Given the description of an element on the screen output the (x, y) to click on. 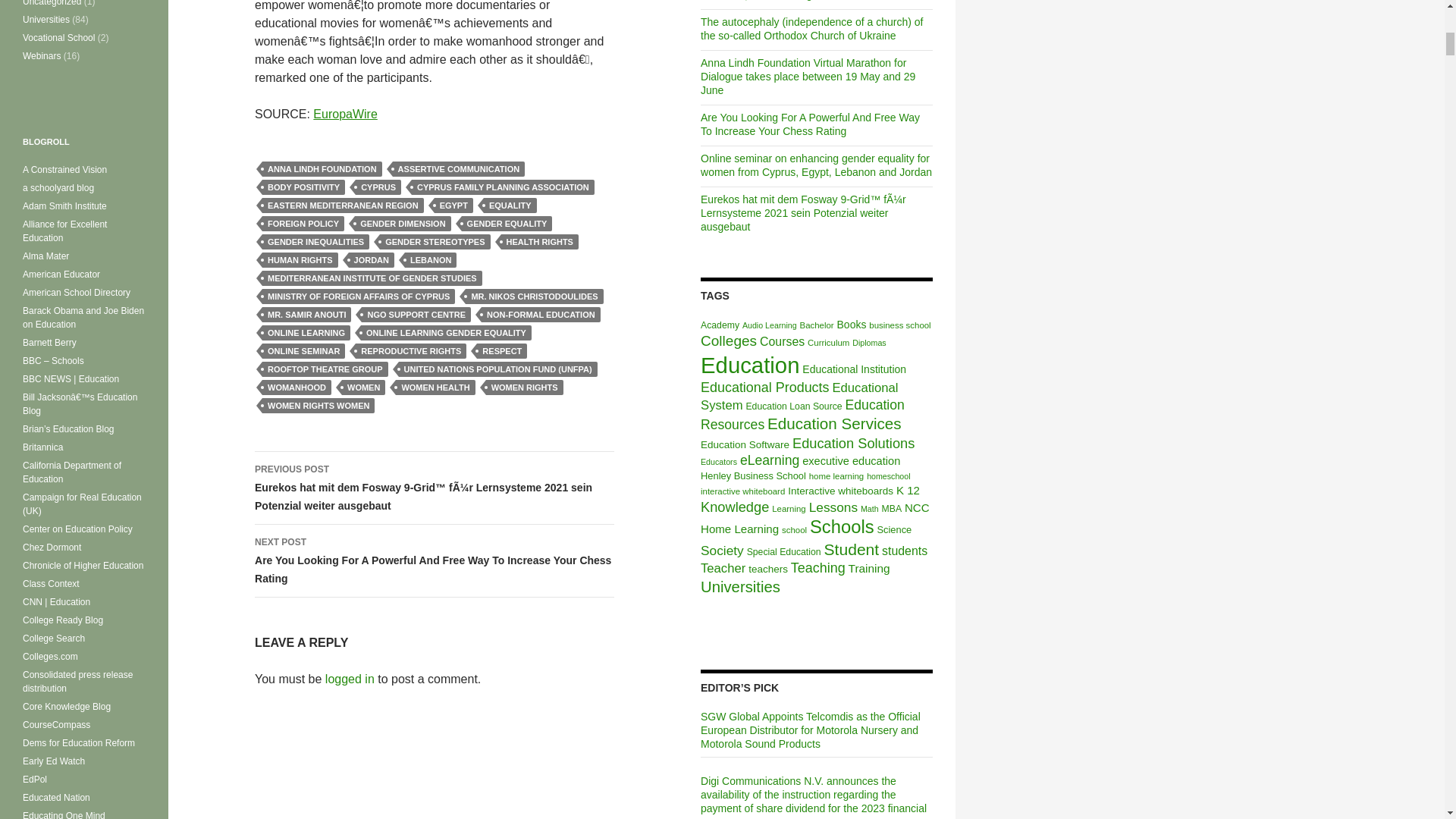
GENDER DIMENSION (402, 223)
GENDER EQUALITY (507, 223)
GENDER INEQUALITIES (315, 241)
EQUALITY (510, 205)
HEALTH RIGHTS (539, 241)
HUMAN RIGHTS (299, 259)
EGYPT (453, 205)
BODY POSITIVITY (303, 186)
ANNA LINDH FOUNDATION (321, 168)
EuropaWire (345, 113)
CYPRUS (378, 186)
ASSERTIVE COMMUNICATION (459, 168)
GENDER STEREOTYPES (434, 241)
EASTERN MEDITERRANEAN REGION (342, 205)
FOREIGN POLICY (302, 223)
